Given the description of an element on the screen output the (x, y) to click on. 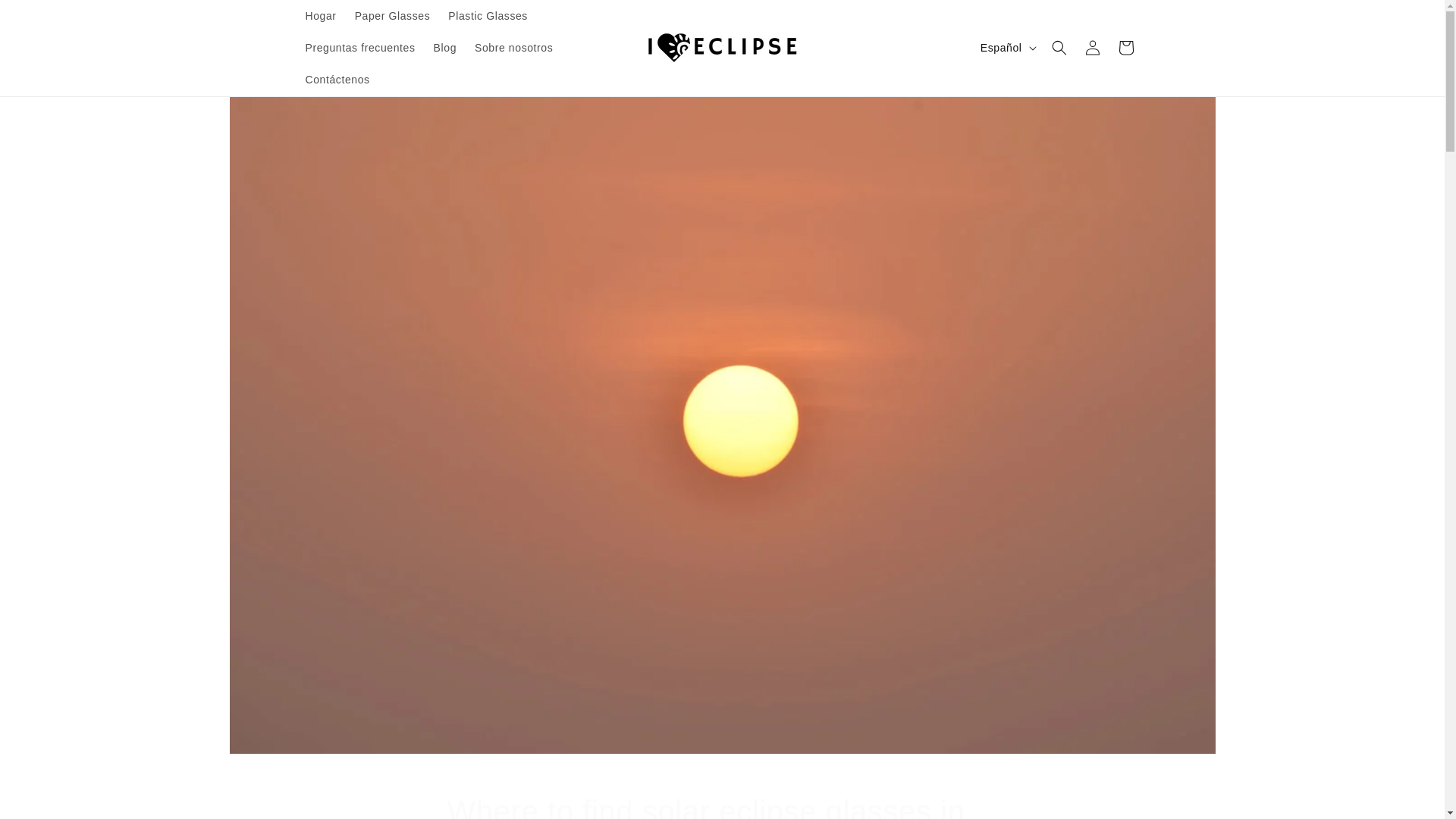
Preguntas frecuentes (359, 47)
Blog (445, 47)
Paper Glasses (392, 15)
Plastic Glasses (488, 15)
Sobre nosotros (513, 47)
Ir directamente al contenido (45, 17)
Hogar (320, 15)
Carrito (1124, 47)
